Given the description of an element on the screen output the (x, y) to click on. 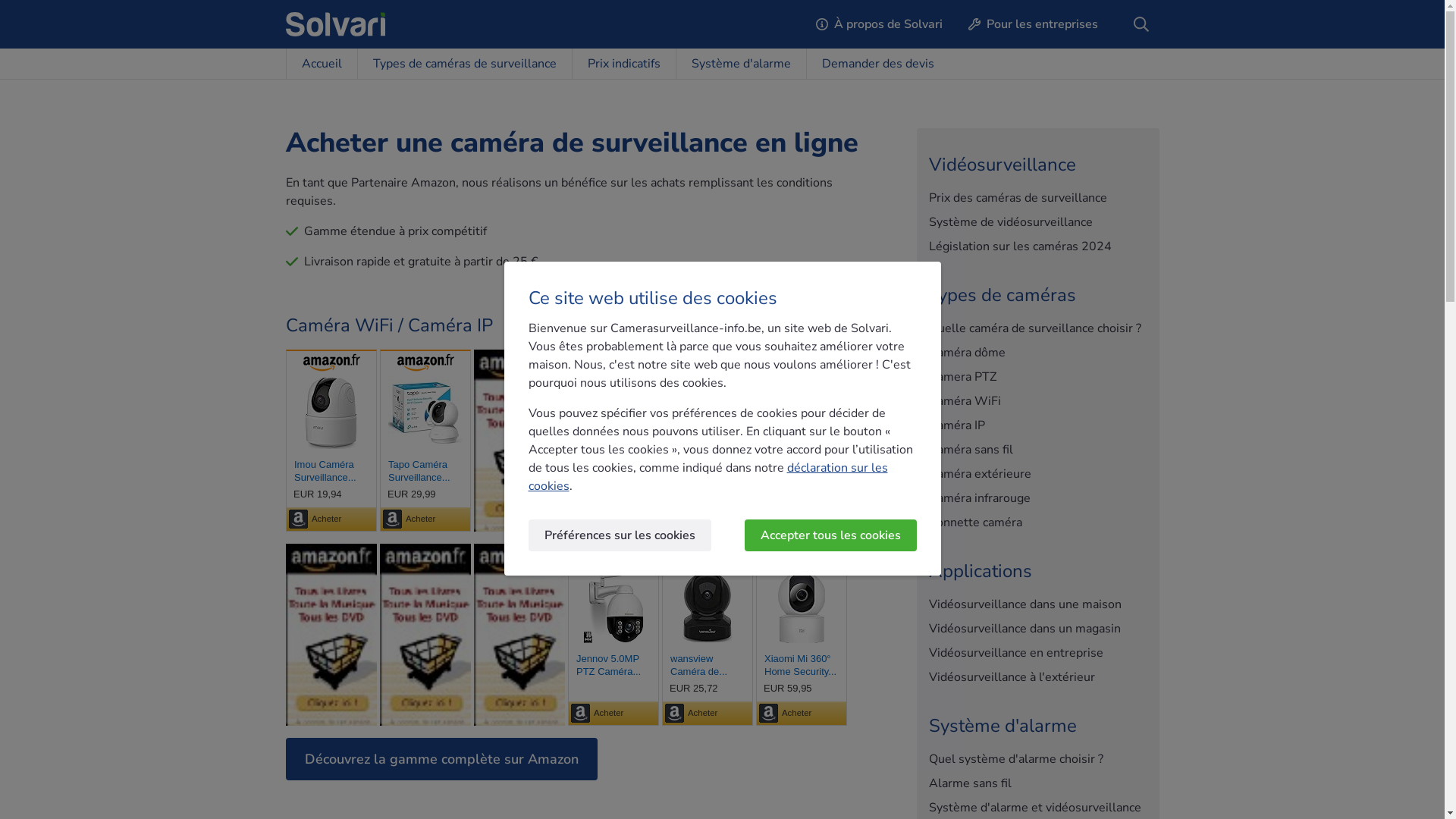
Alarme sans fil Element type: text (1037, 783)
Prix indicatifs Element type: text (623, 63)
Accepter tous les cookies Element type: text (830, 535)
Demander des devis Element type: text (876, 63)
Accueil Element type: text (320, 63)
Camera PTZ Element type: text (1037, 376)
Pour les entreprises Element type: text (1032, 24)
